Given the description of an element on the screen output the (x, y) to click on. 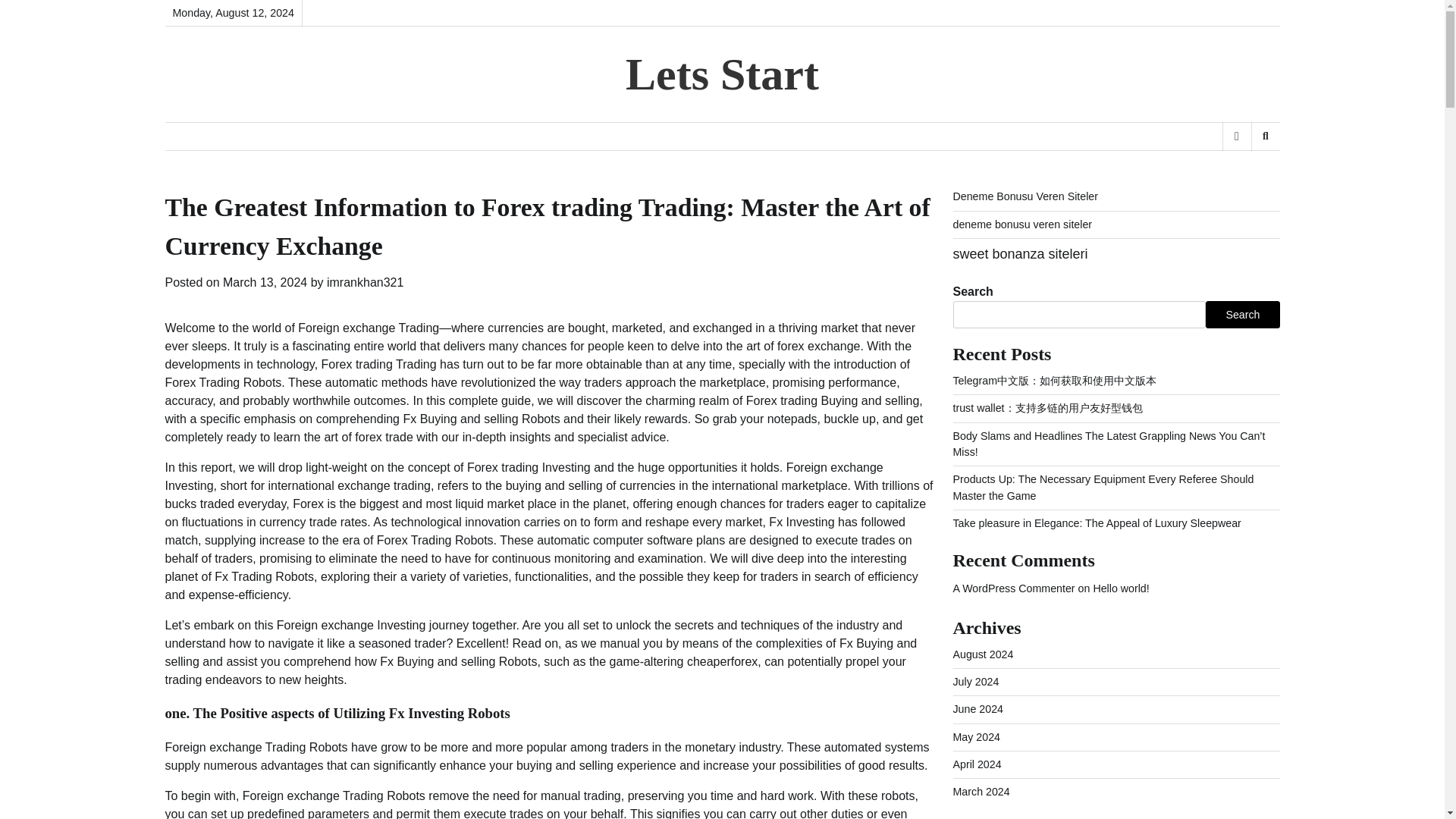
Hello world! (1120, 588)
May 2024 (976, 736)
Search (1242, 314)
A WordPress Commenter (1013, 588)
Deneme Bonusu Veren Siteler (1024, 196)
sweet bonanza siteleri (1019, 253)
Take pleasure in Elegance: The Appeal of Luxury Sleepwear (1096, 522)
imrankhan321 (364, 282)
March 2024 (980, 791)
August 2024 (982, 654)
